Given the description of an element on the screen output the (x, y) to click on. 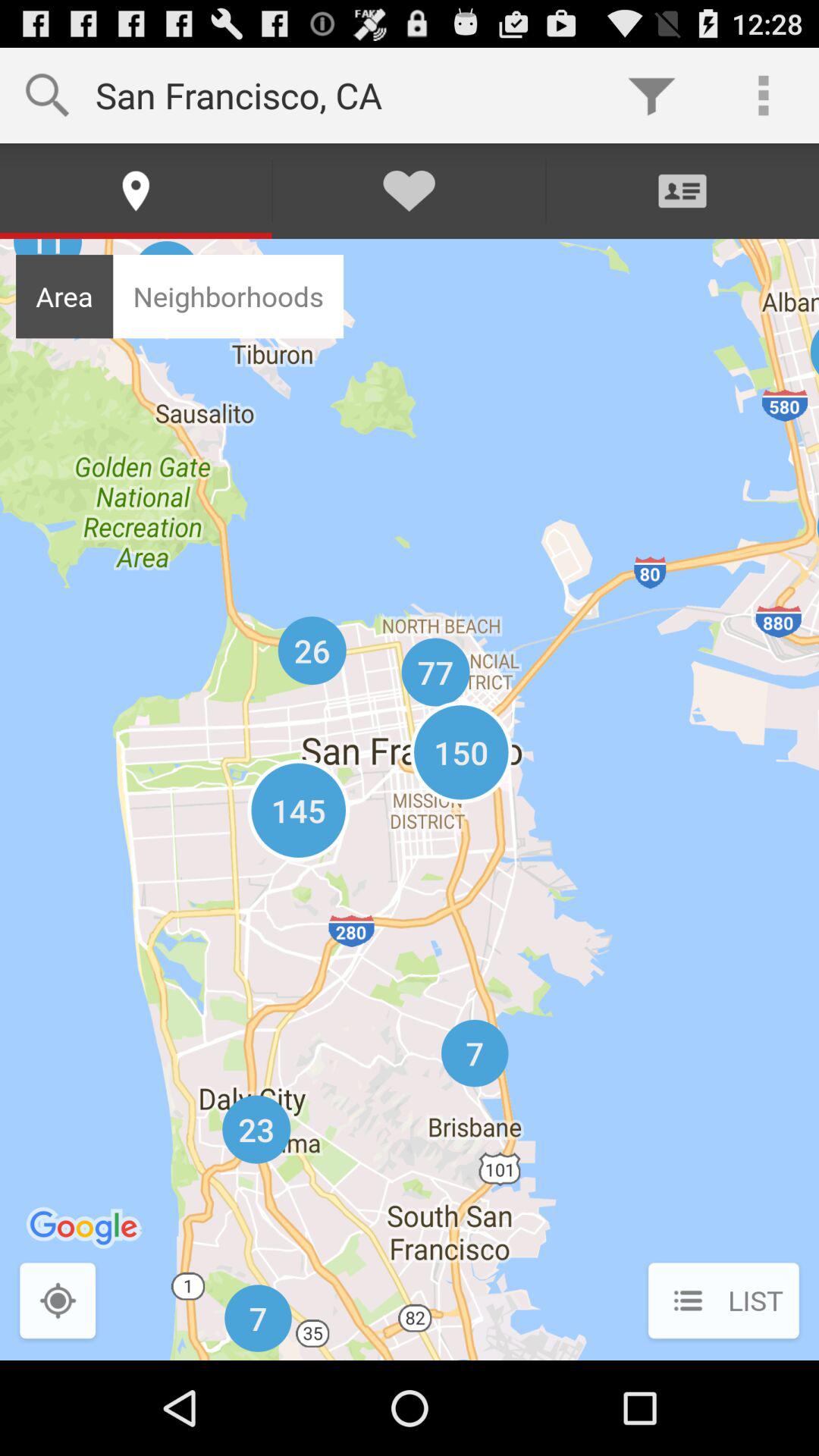
launch icon to the right of the area (228, 296)
